Given the description of an element on the screen output the (x, y) to click on. 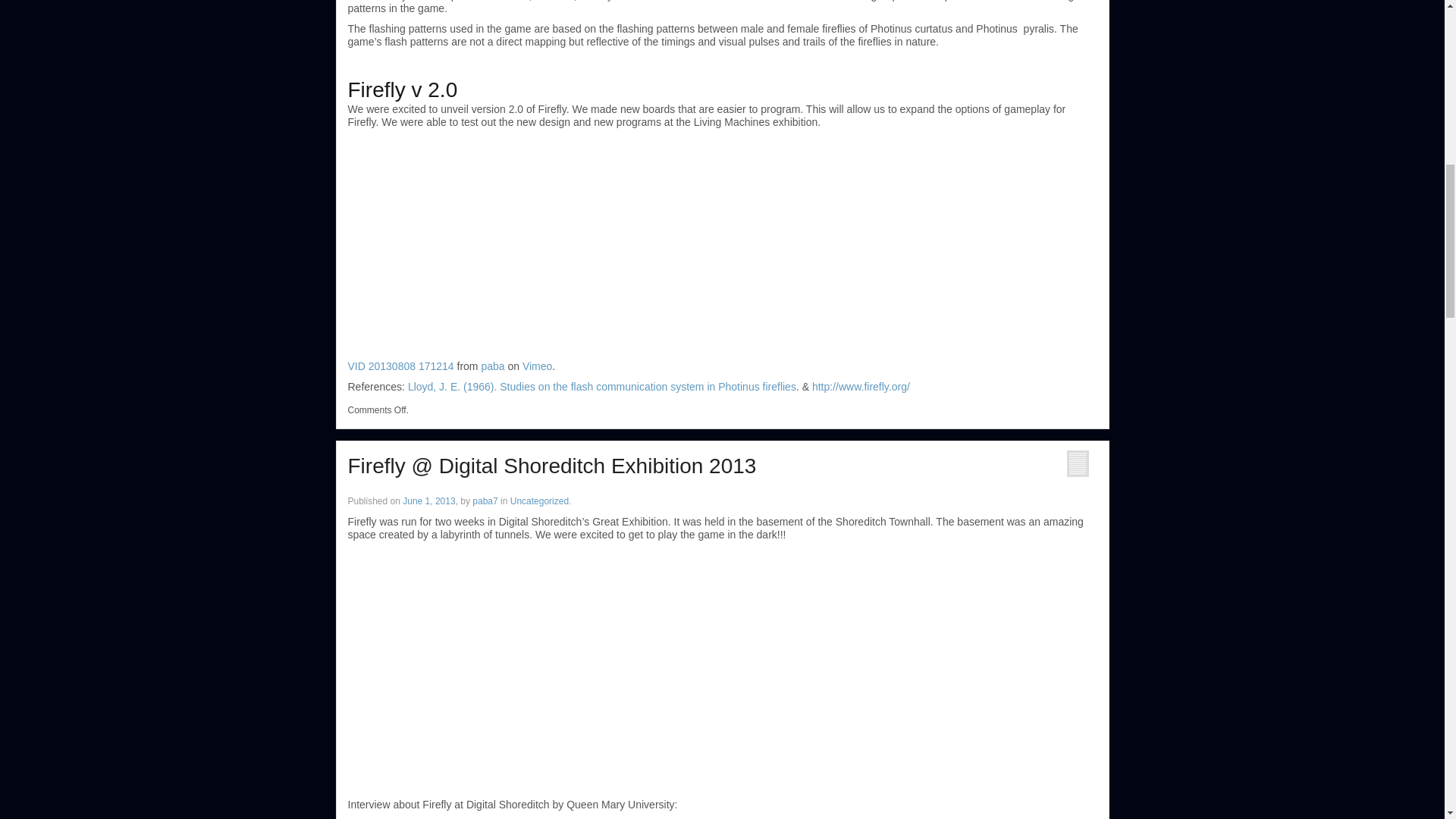
View all posts in Uncategorized (540, 501)
Uncategorized (540, 501)
Vimeo (536, 366)
paba (491, 366)
VID 20130808 171214 (399, 366)
Posts by paba7 (484, 501)
June 1, 2013 (428, 501)
paba7 (484, 501)
